Given the description of an element on the screen output the (x, y) to click on. 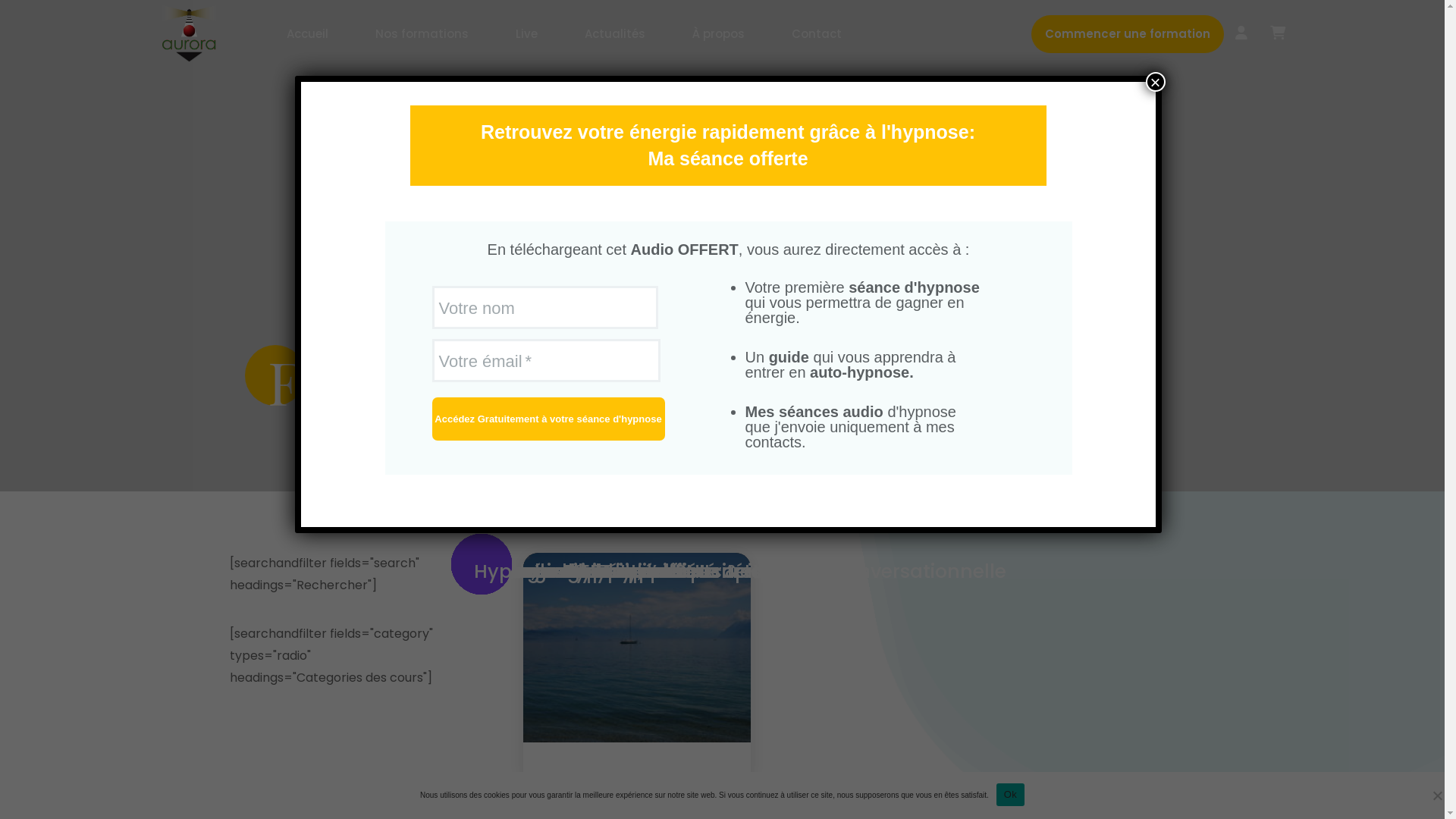
Live Element type: text (526, 34)
Ok Element type: text (1010, 793)
Nos formations Element type: text (421, 34)
Commencer une formation Element type: text (1127, 34)
Non Element type: hover (1436, 795)
Accueil Element type: text (307, 34)
Mon compte Element type: text (1240, 34)
Contact Element type: text (816, 34)
Panier Element type: text (1277, 34)
